Given the description of an element on the screen output the (x, y) to click on. 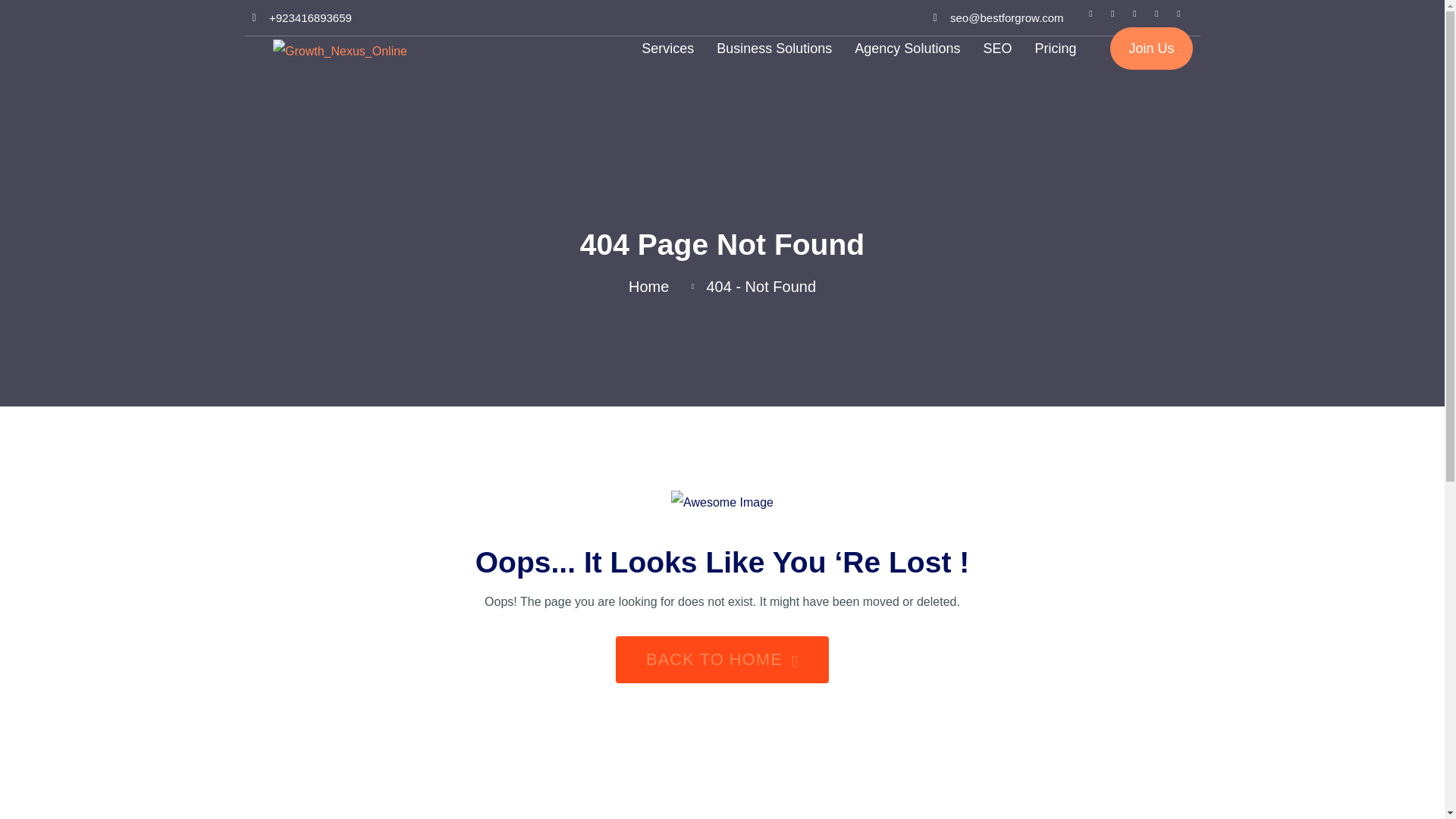
SEO (997, 48)
Services (667, 48)
Business Solutions (773, 48)
Agency Solutions (907, 48)
